Given the description of an element on the screen output the (x, y) to click on. 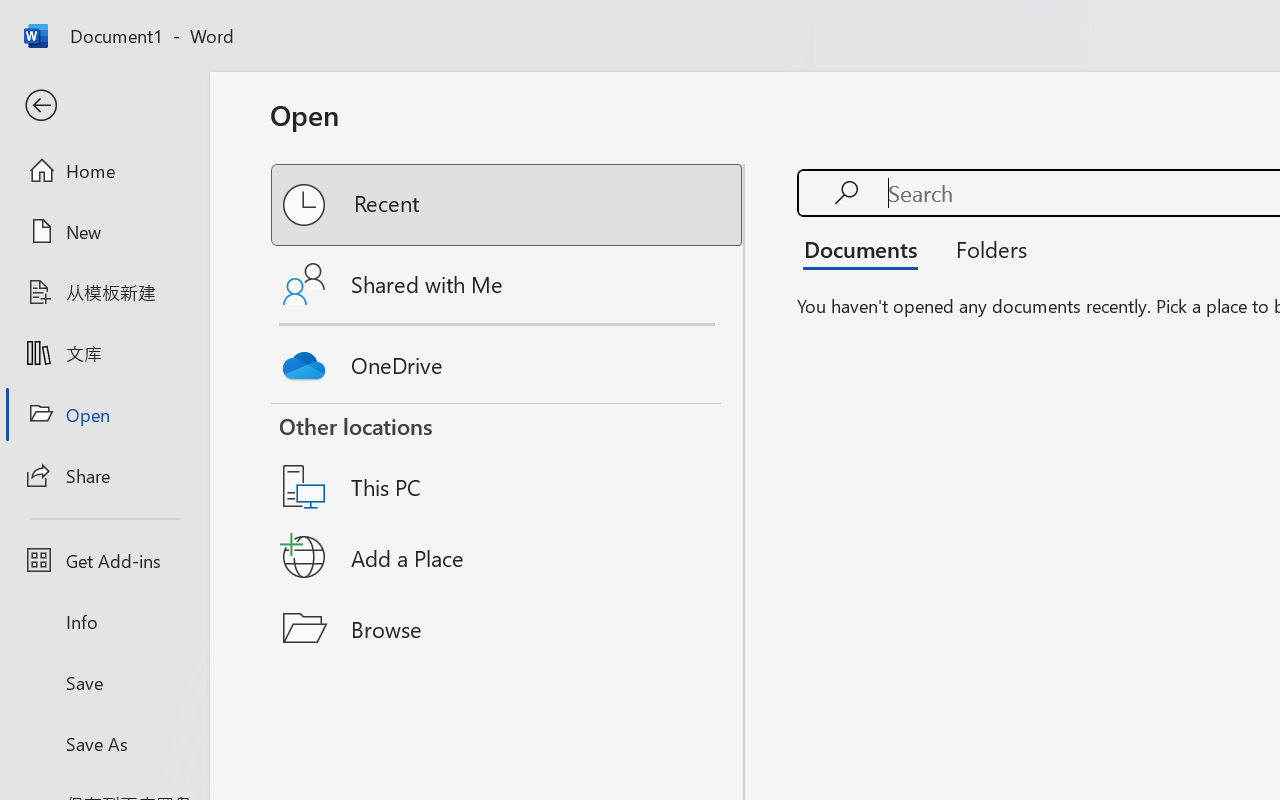
Folders (984, 248)
Browse (507, 627)
Back (104, 106)
